Given the description of an element on the screen output the (x, y) to click on. 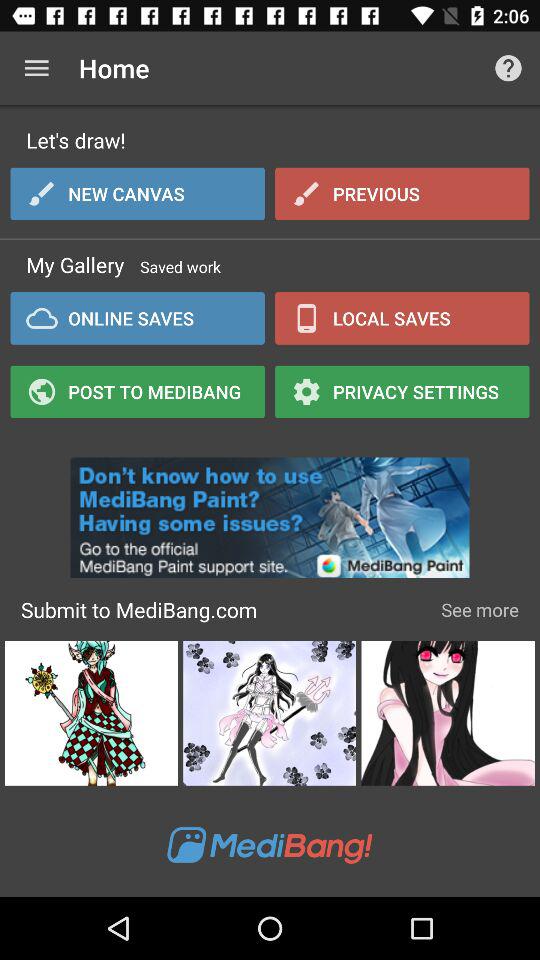
flip to previous item (402, 193)
